Given the description of an element on the screen output the (x, y) to click on. 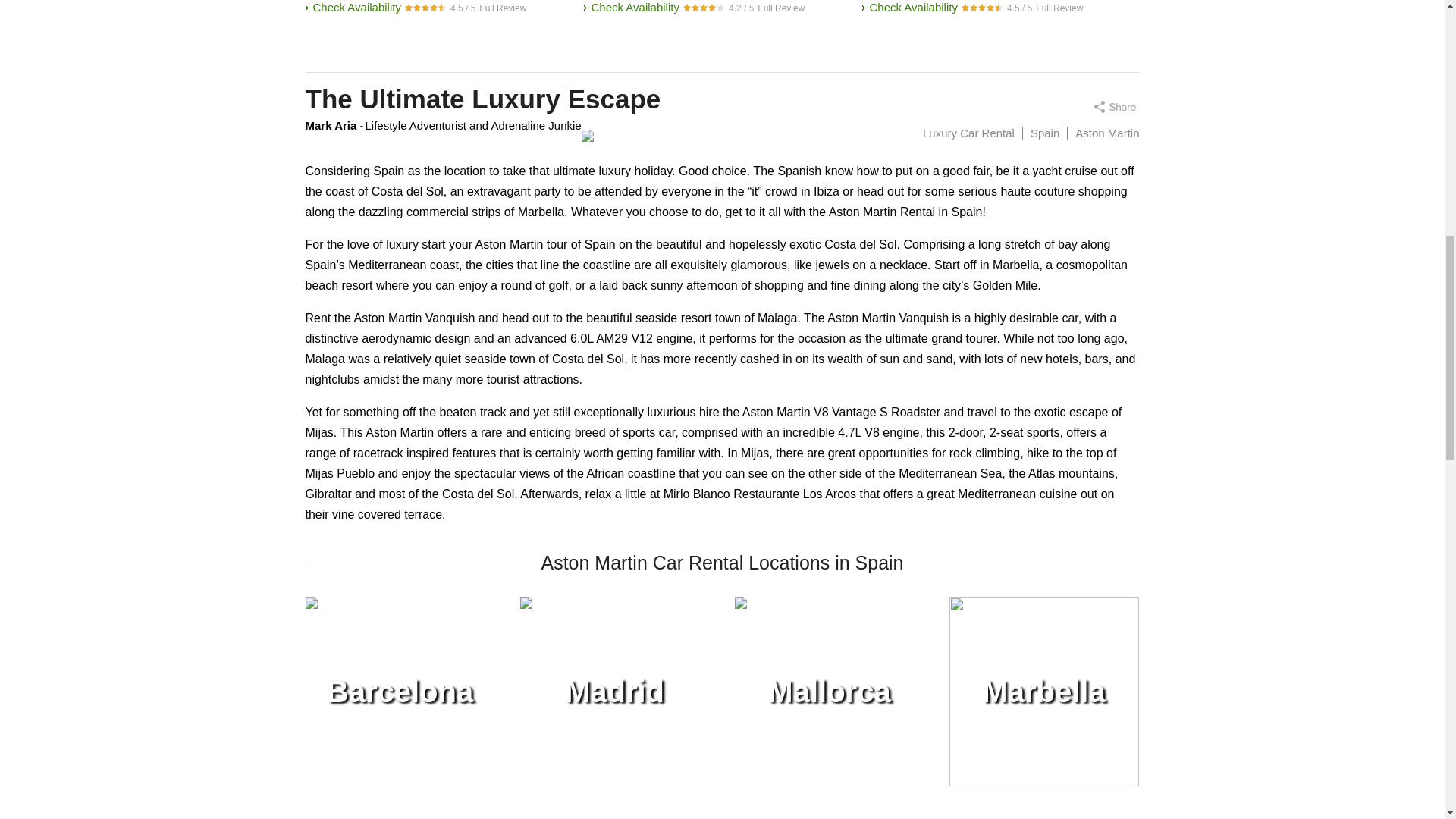
Full Review (1059, 8)
Full Review (781, 8)
Full Review (502, 8)
